Given the description of an element on the screen output the (x, y) to click on. 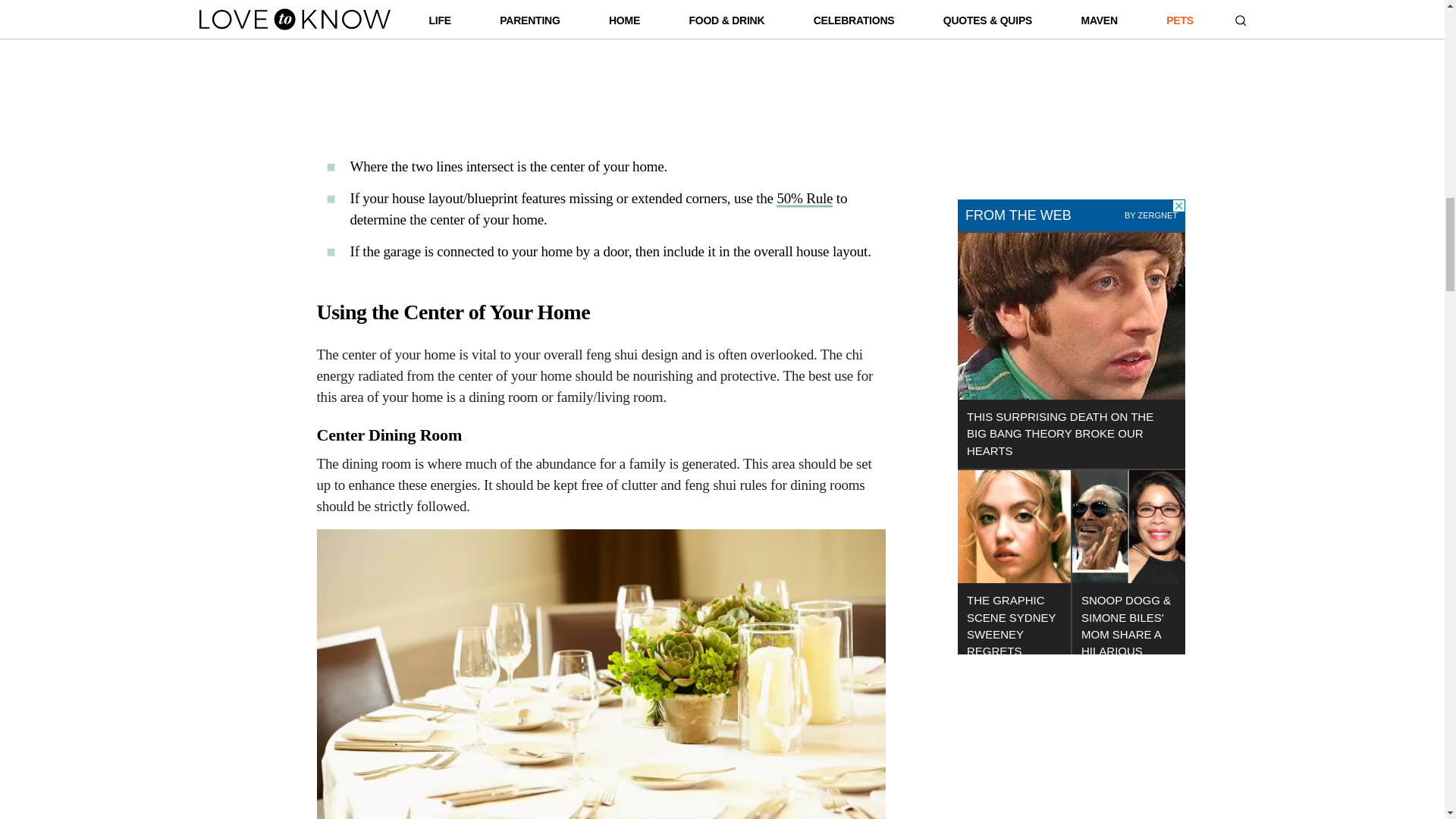
on (966, 100)
